Given the description of an element on the screen output the (x, y) to click on. 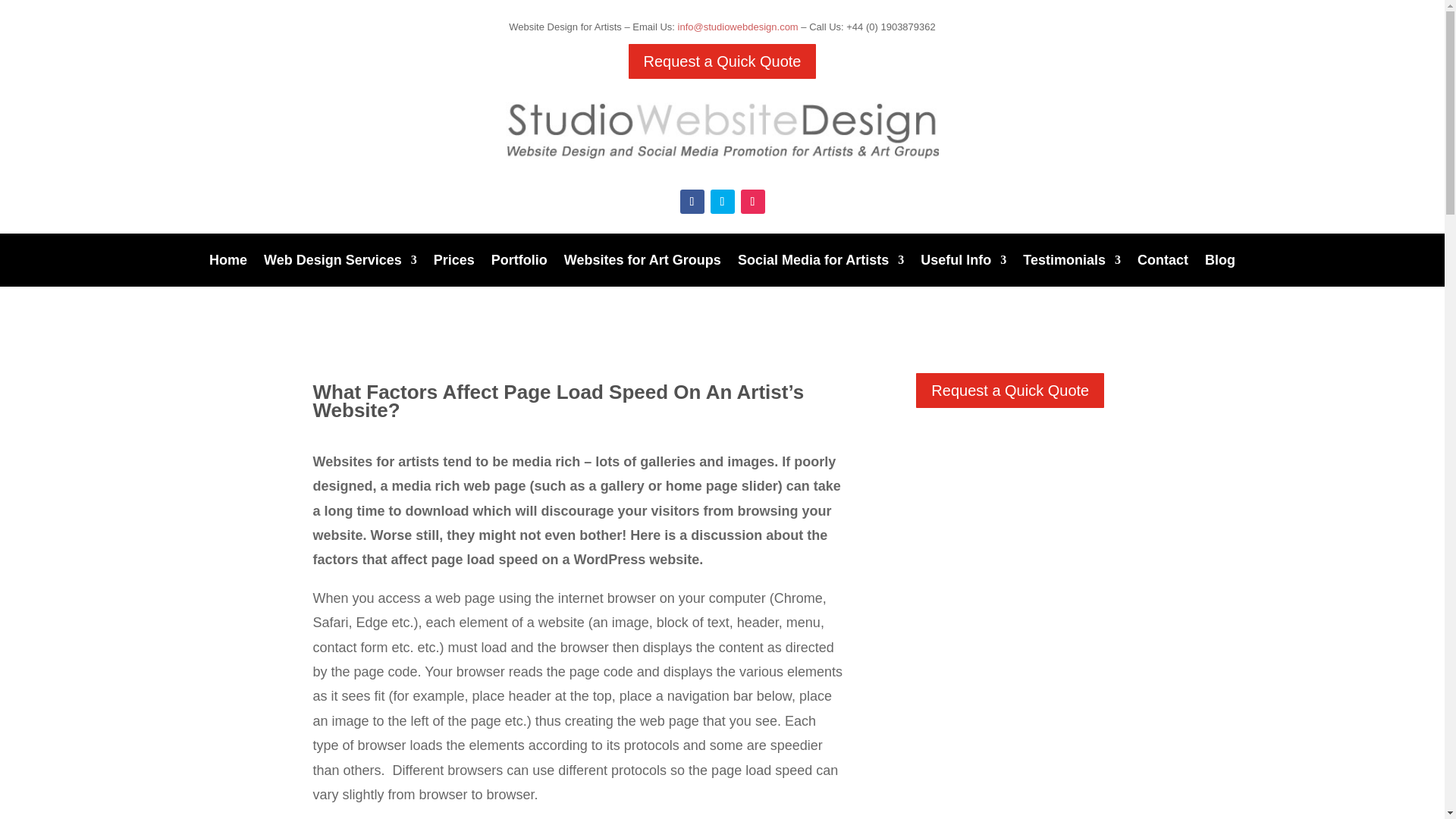
Request a Quick Quote (722, 61)
Social Media for Artists (821, 262)
Prices (453, 262)
Websites for Art Groups (642, 262)
Follow on Facebook (691, 201)
Useful Info (963, 262)
Follow on Instagram (751, 201)
Contact (1162, 262)
Testimonials (1072, 262)
Blog (1219, 262)
